Given the description of an element on the screen output the (x, y) to click on. 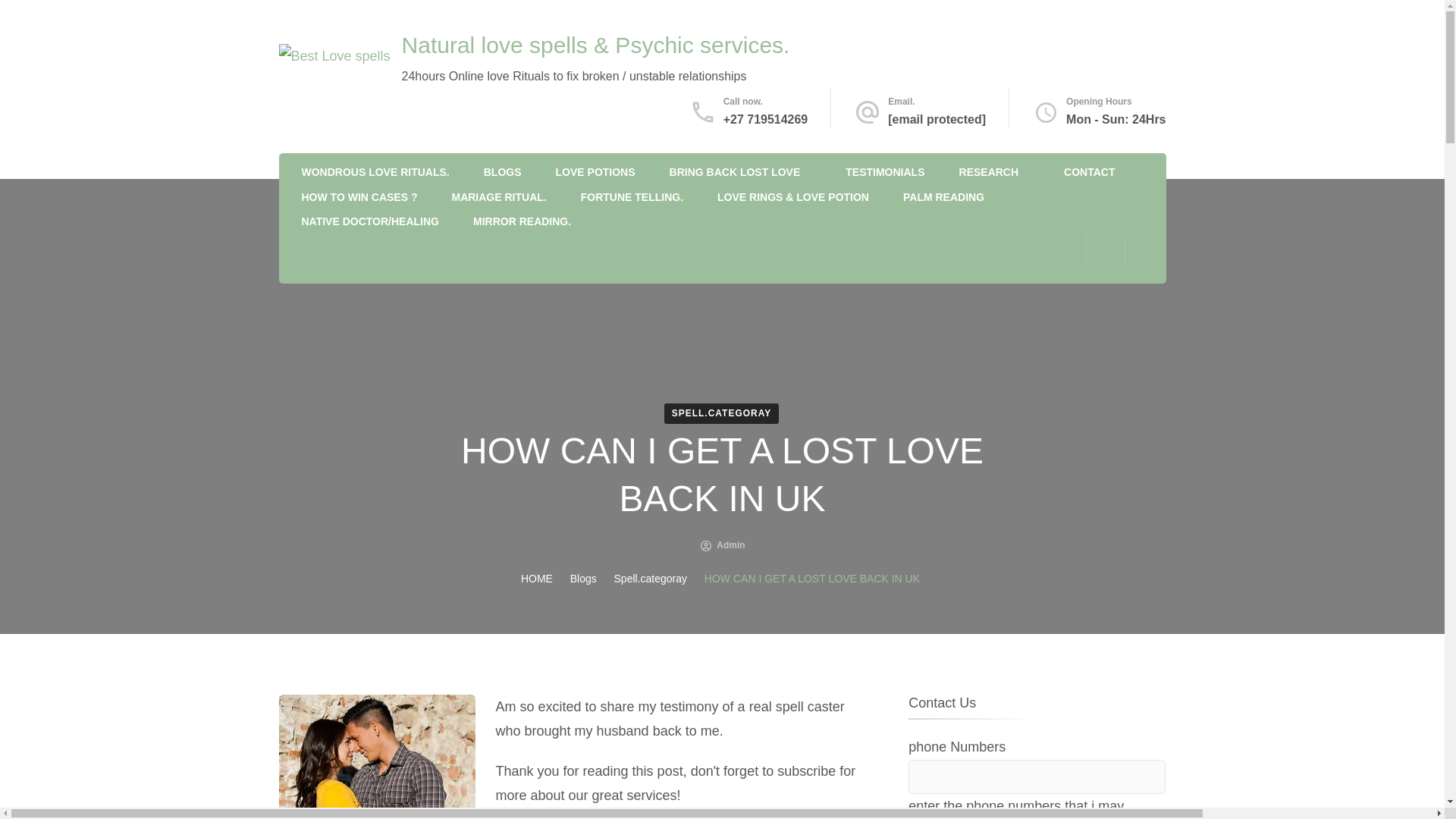
RESEARCH (989, 173)
HOW TO WIN CASES ? (359, 198)
 Natural spells for love  (375, 173)
CONTACT (1089, 173)
who can use love rituals (884, 173)
BLOGS (502, 173)
BRING BACK LOST LOVE (734, 173)
LOVE POTIONS (595, 173)
WONDROUS LOVE RITUALS. (375, 173)
MARIAGE RITUAL. (498, 198)
